Given the description of an element on the screen output the (x, y) to click on. 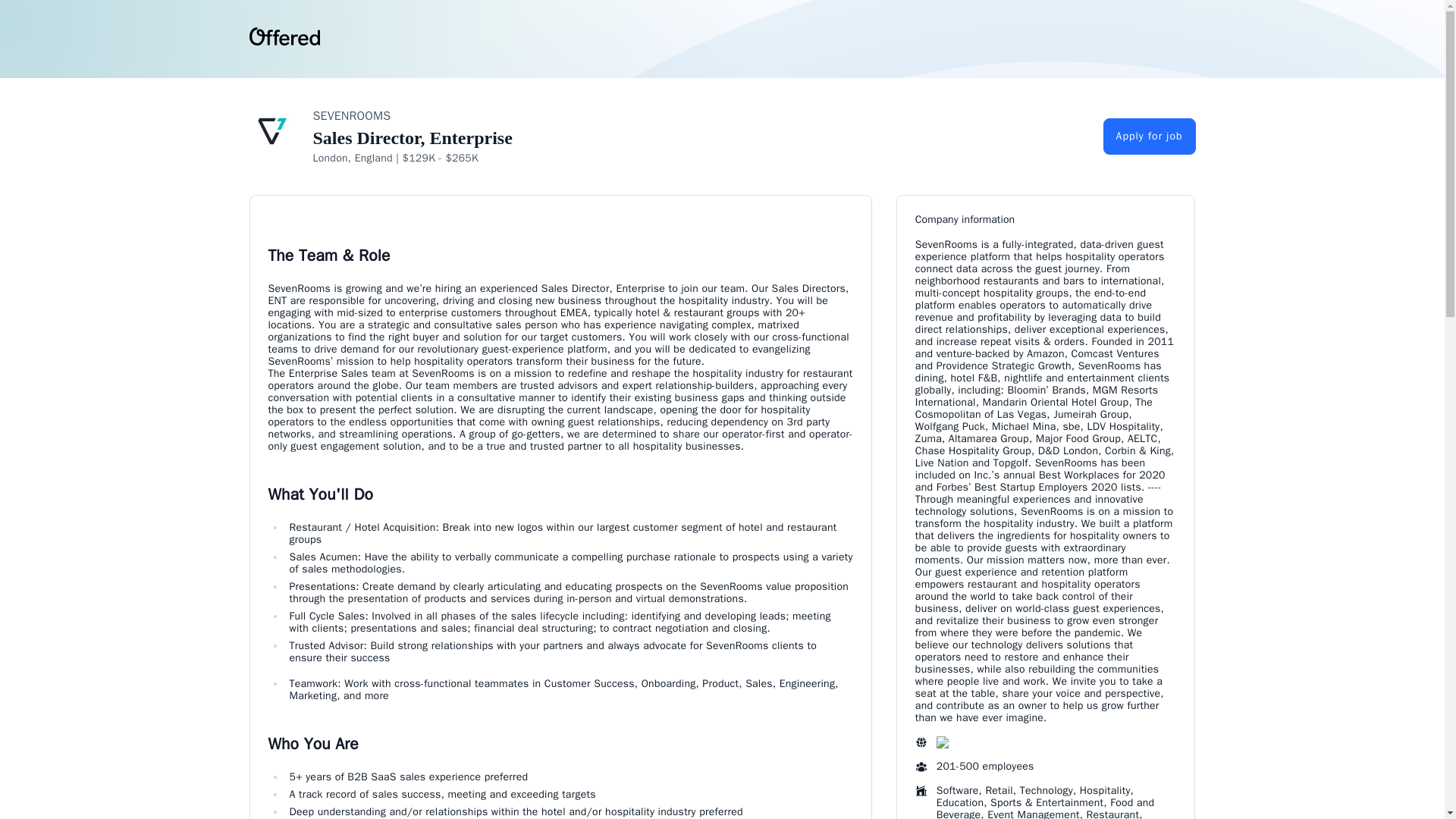
Apply for job (1149, 135)
